Given the description of an element on the screen output the (x, y) to click on. 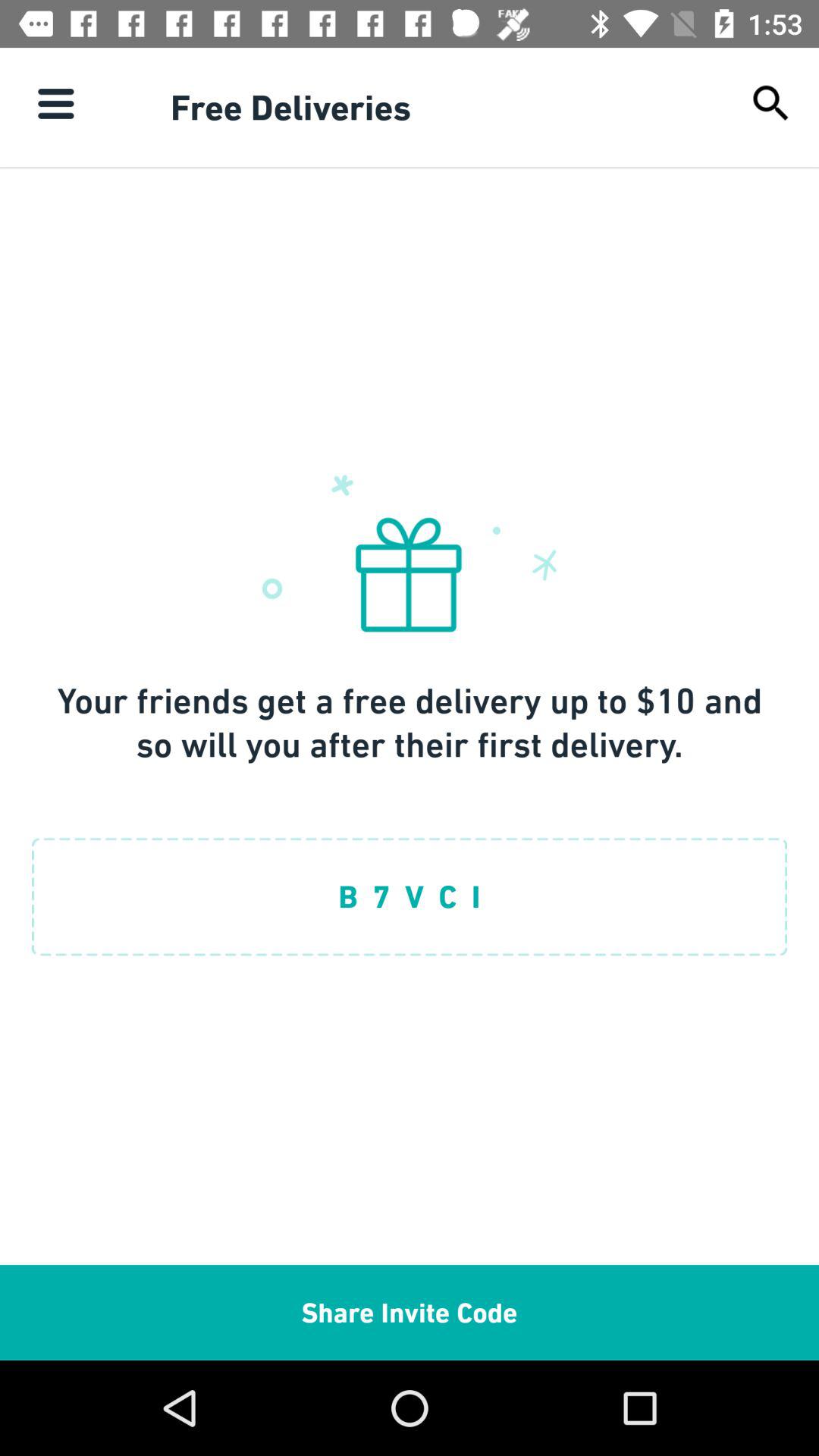
launch icon next to free deliveries item (771, 103)
